Given the description of an element on the screen output the (x, y) to click on. 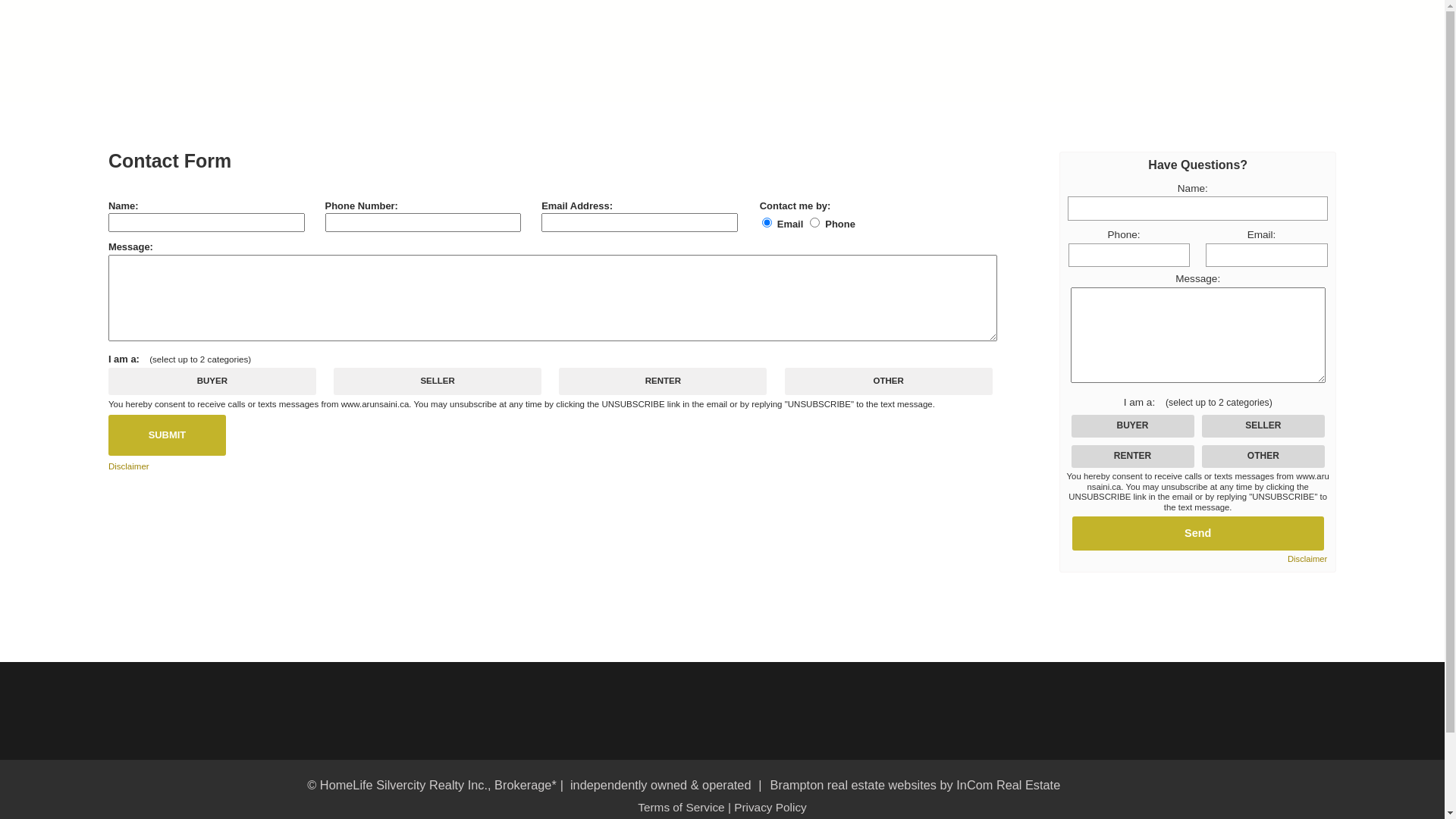
BUYER Element type: text (4, 4)
SUBMIT Element type: text (166, 434)
Send Element type: text (1198, 533)
HomeLife Silvercity Realty Inc., Brokerage* Element type: text (438, 784)
Disclaimer Element type: text (1307, 558)
Terms of Service Element type: text (680, 806)
Privacy Policy Element type: text (770, 806)
Brampton real estate websites Element type: text (851, 784)
Disclaimer Element type: text (128, 466)
